Given the description of an element on the screen output the (x, y) to click on. 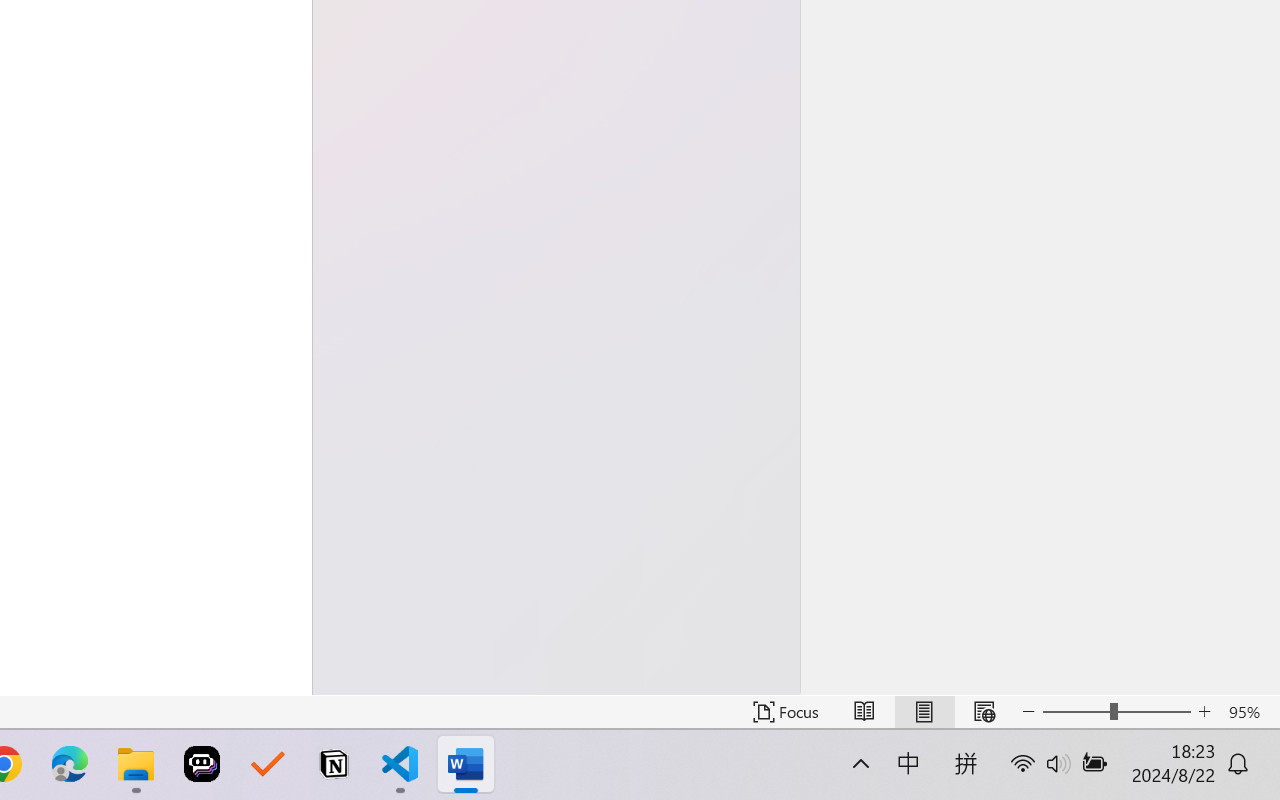
Zoom 95% (1249, 712)
